Given the description of an element on the screen output the (x, y) to click on. 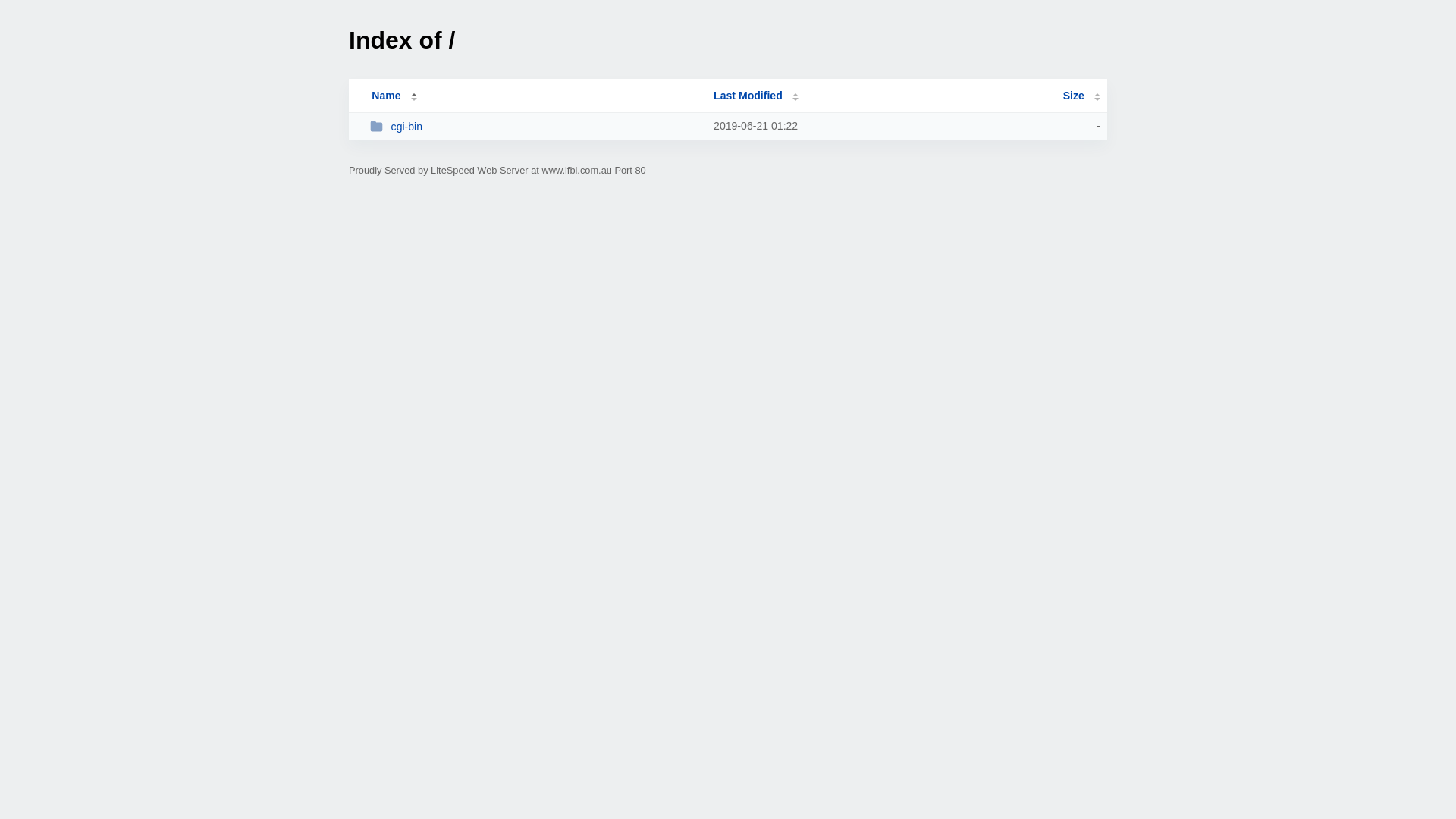
Last Modified Element type: text (755, 95)
cgi-bin Element type: text (534, 125)
Name Element type: text (385, 95)
Size Element type: text (1081, 95)
